Given the description of an element on the screen output the (x, y) to click on. 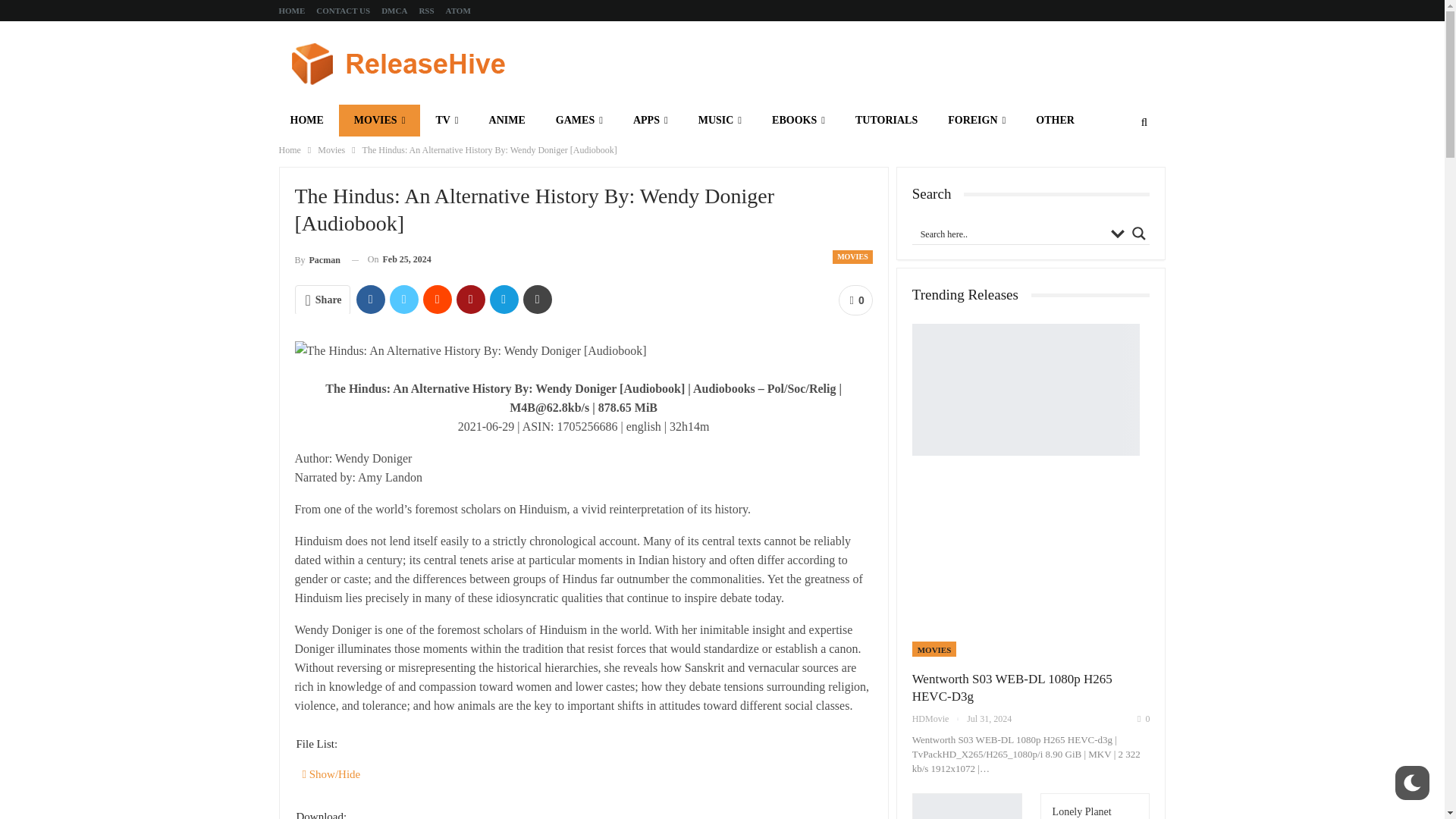
HOME (292, 10)
TUTORIALS (886, 120)
DMCA (394, 10)
APPS (649, 120)
EBOOKS (798, 120)
GAMES (578, 120)
OTHER (1054, 120)
Browse Author Articles (316, 259)
HOME (306, 120)
TV (446, 120)
RSS (426, 10)
CONTACT US (342, 10)
MUSIC (719, 120)
ANIME (507, 120)
MOVIES (379, 120)
